Given the description of an element on the screen output the (x, y) to click on. 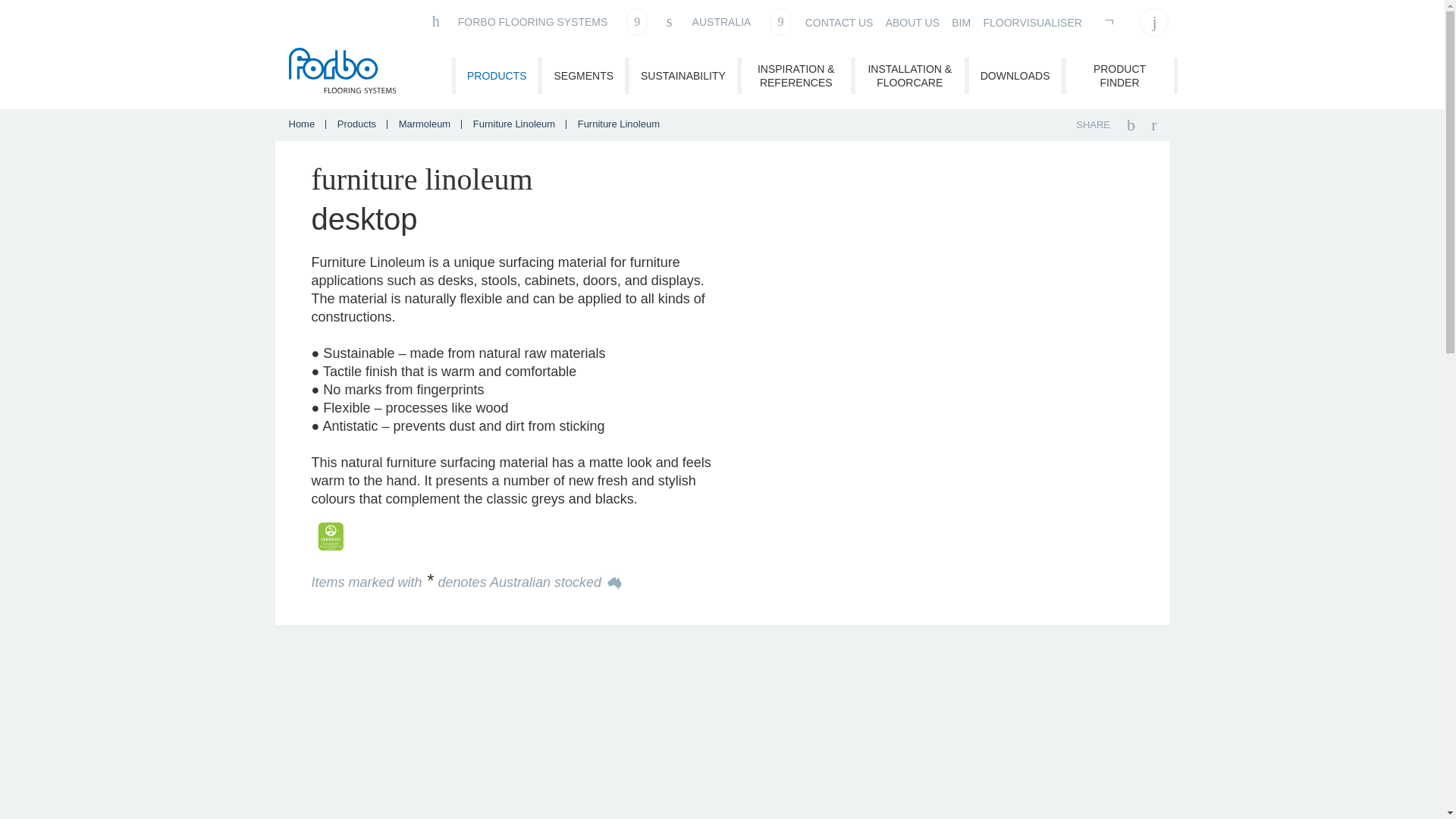
Sample Order (1110, 22)
Marmoleum (425, 123)
DOWNLOADS (1014, 75)
SUSTAINABILITY (682, 75)
FLOORVISUALISER (1031, 23)
FORBO FLOORING SYSTEMS (538, 22)
Forbo Flooring (344, 73)
FLOORVISUALISER (1031, 23)
CONTACT US (839, 23)
SEGMENTS (582, 75)
